Given the description of an element on the screen output the (x, y) to click on. 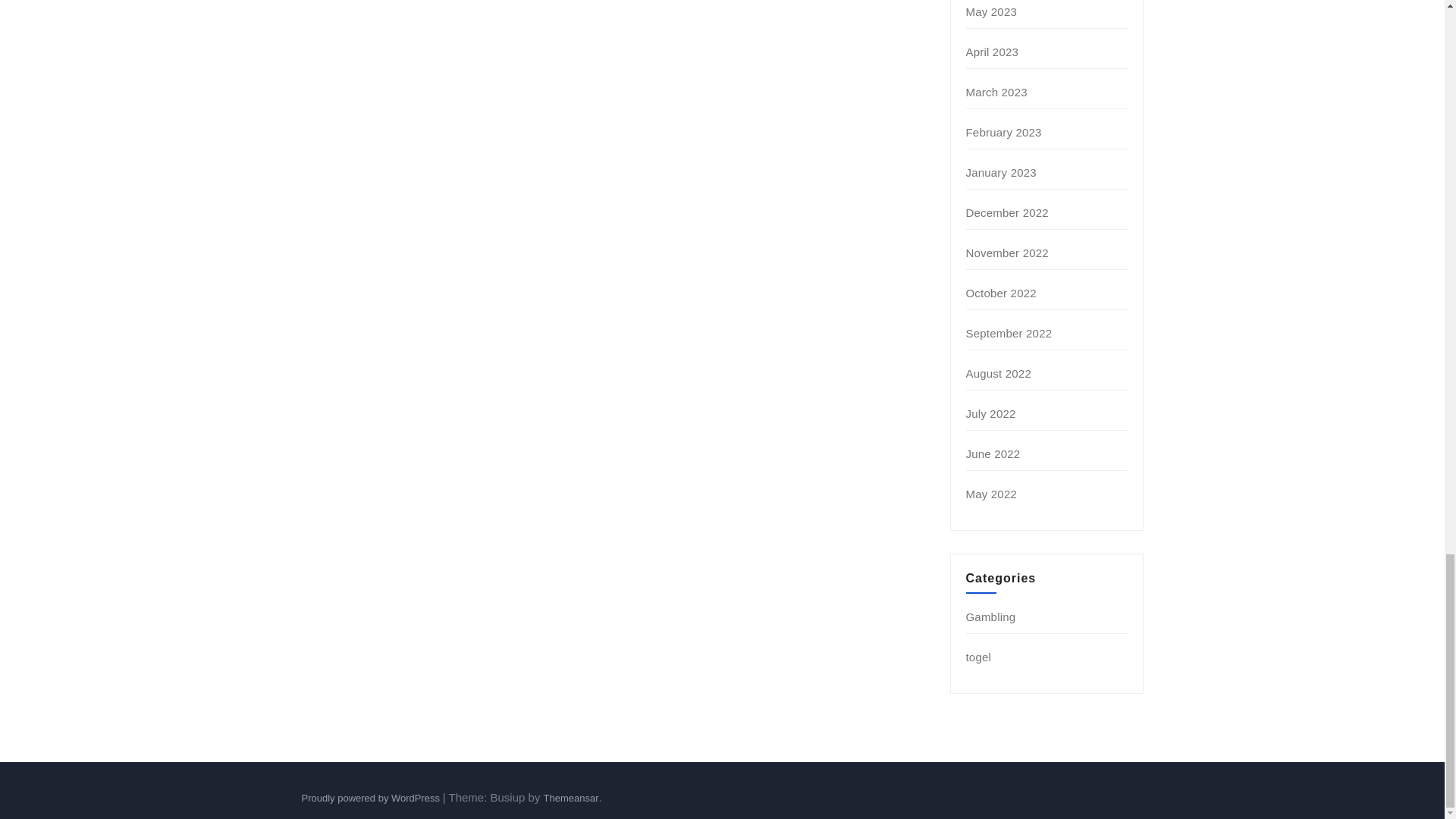
March 2023 (996, 91)
April 2023 (992, 51)
May 2023 (991, 11)
